Given the description of an element on the screen output the (x, y) to click on. 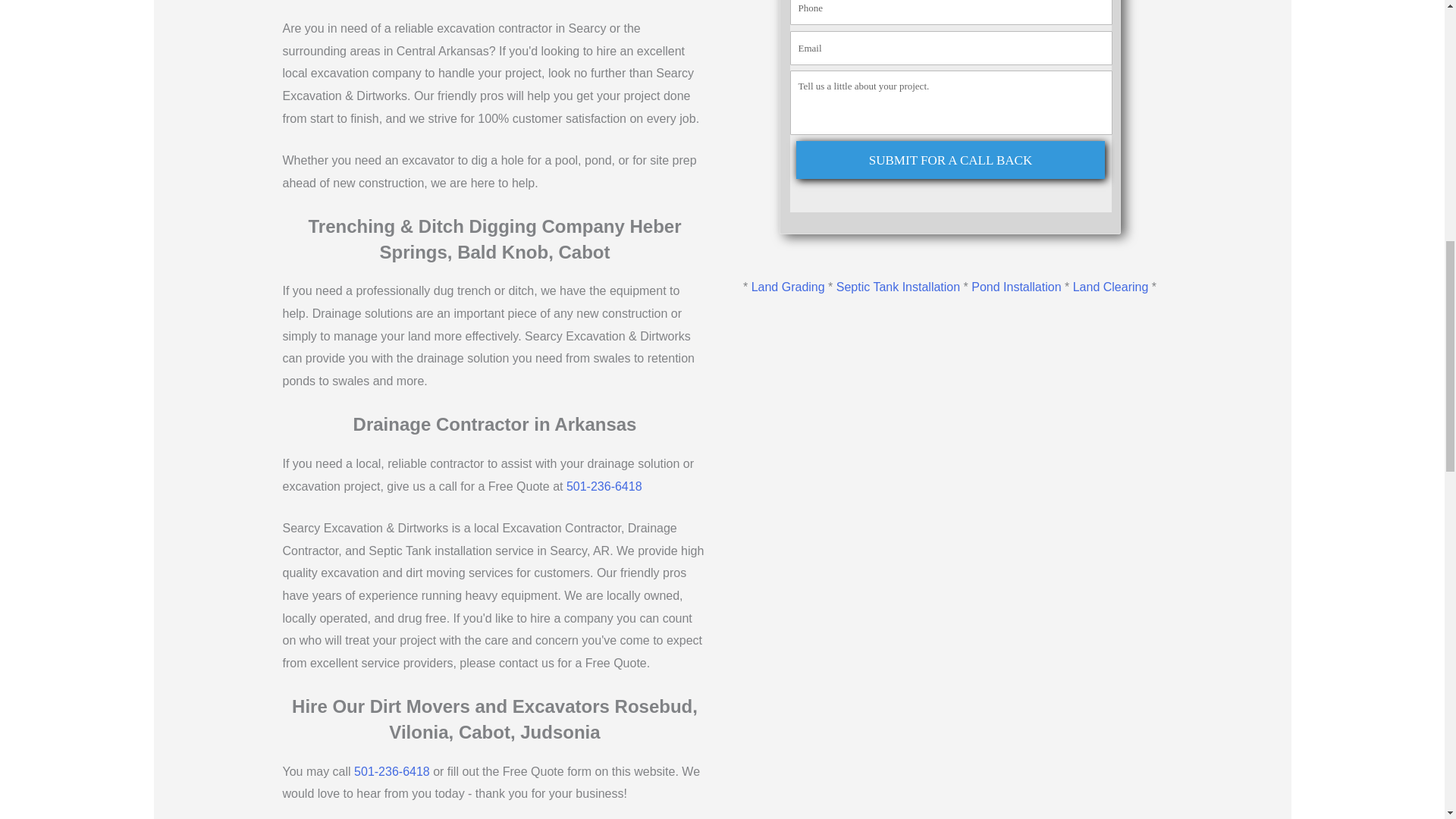
Land Clearing (1110, 286)
501-236-6418 (391, 771)
Pond Installation (1016, 286)
Land Grading (788, 286)
501-236-6418 (604, 486)
SUBMIT FOR A CALL BACK (950, 159)
Septic Tank Installation (897, 286)
